Given the description of an element on the screen output the (x, y) to click on. 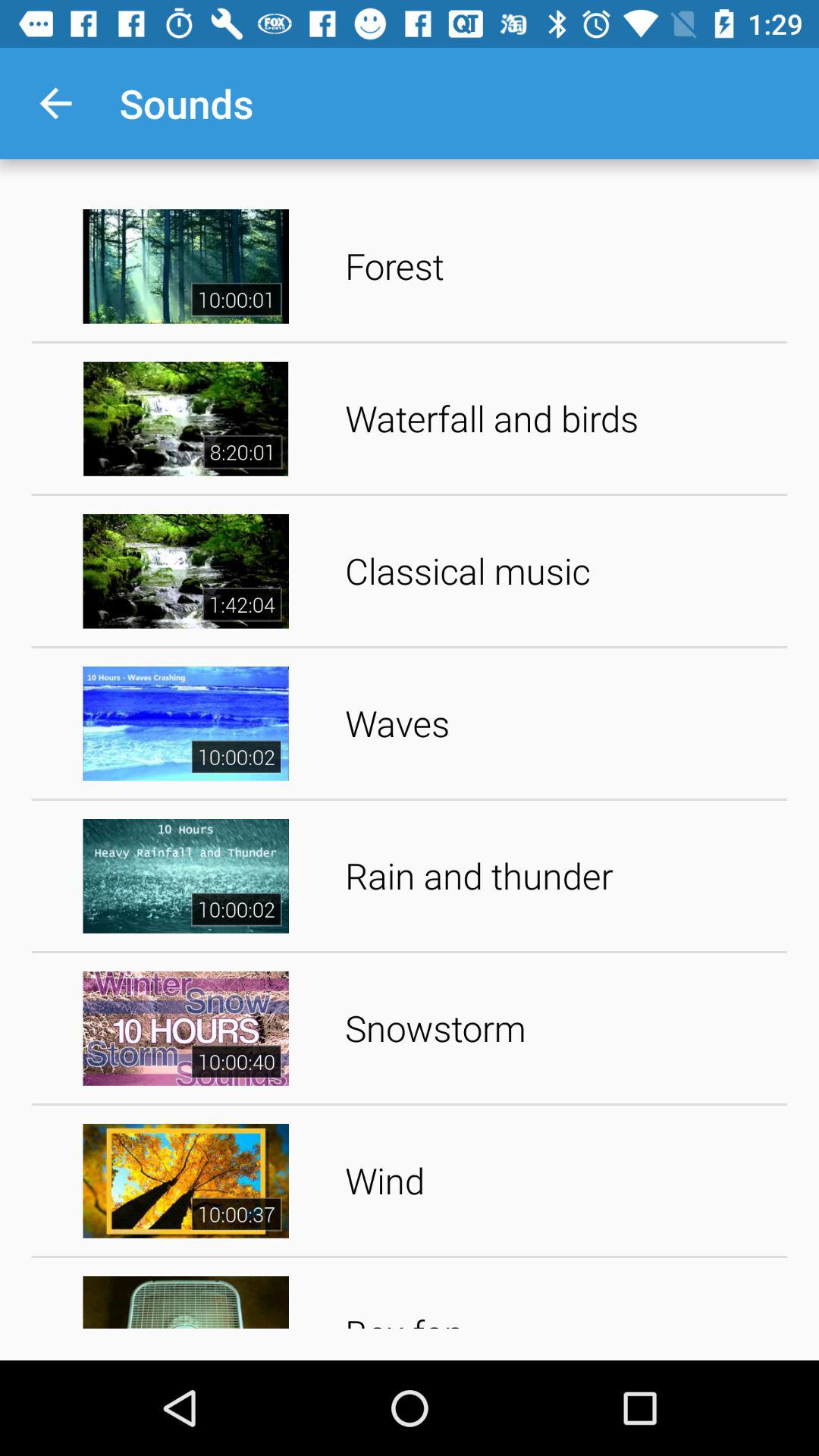
tap snowstorm item (560, 1028)
